Given the description of an element on the screen output the (x, y) to click on. 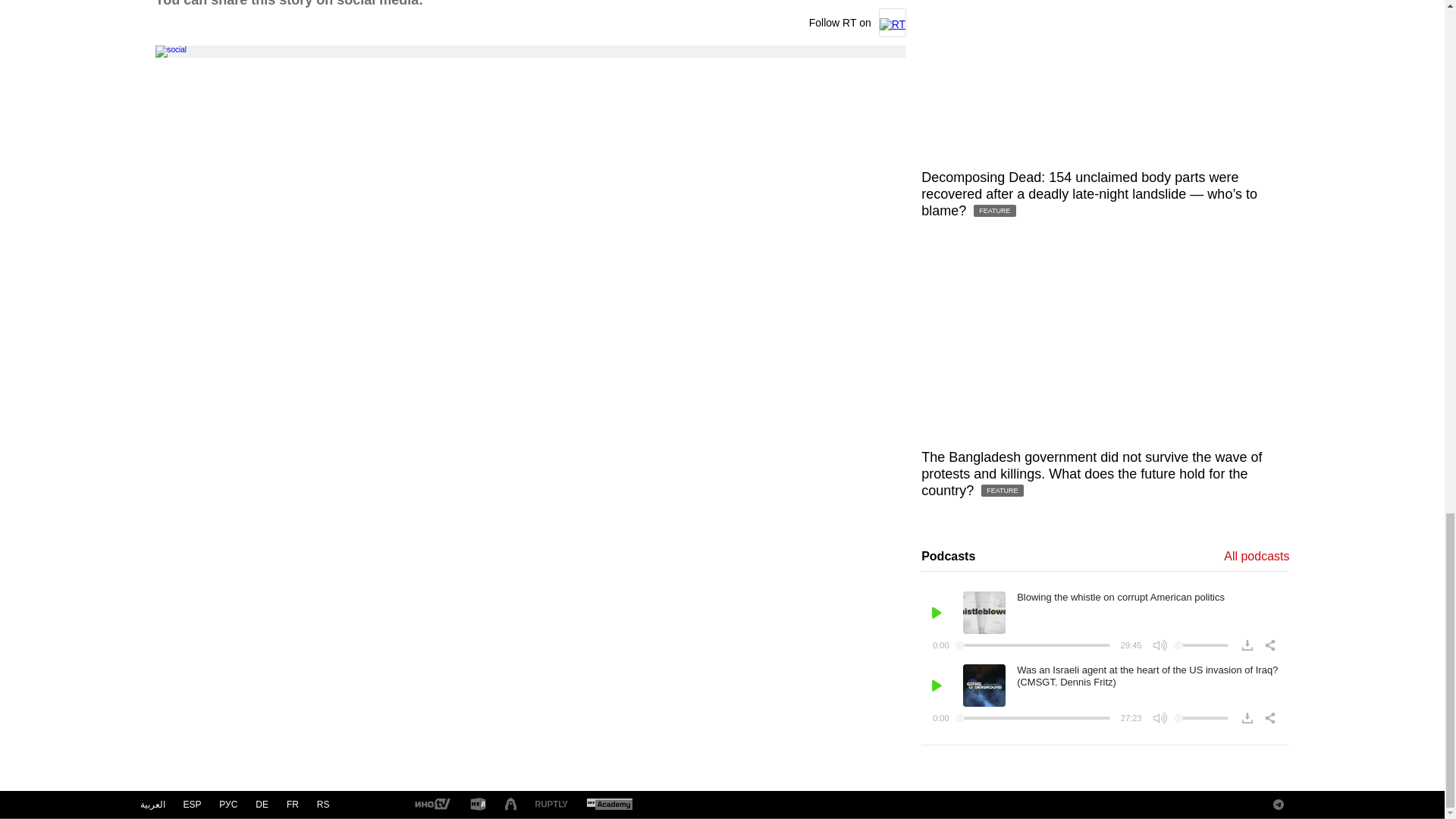
RT  (478, 804)
RT  (551, 804)
RT  (431, 804)
RT  (608, 804)
